Given the description of an element on the screen output the (x, y) to click on. 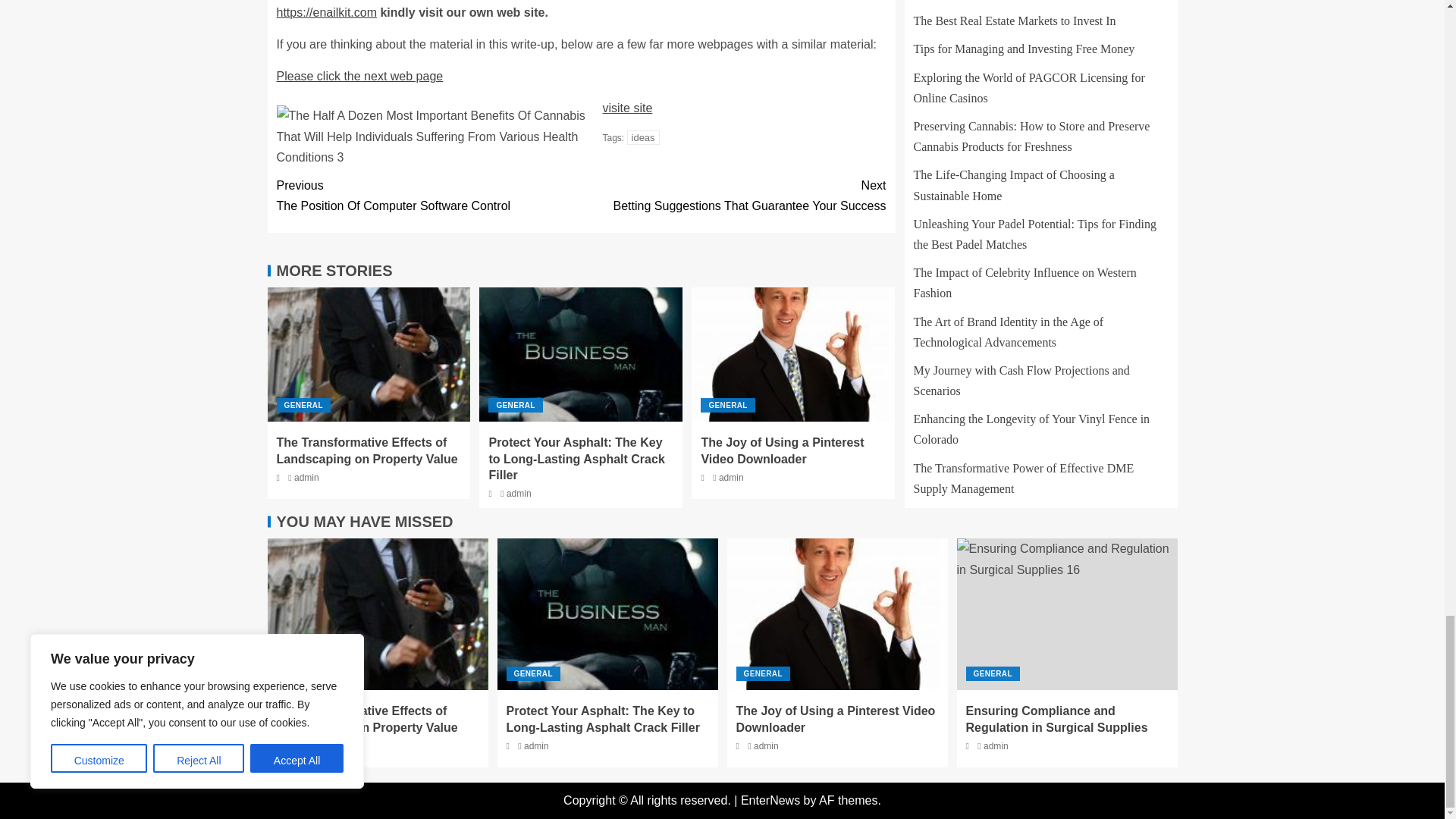
visite site (627, 107)
GENERAL (303, 405)
Please click the next web page (359, 75)
ideas (732, 195)
